Given the description of an element on the screen output the (x, y) to click on. 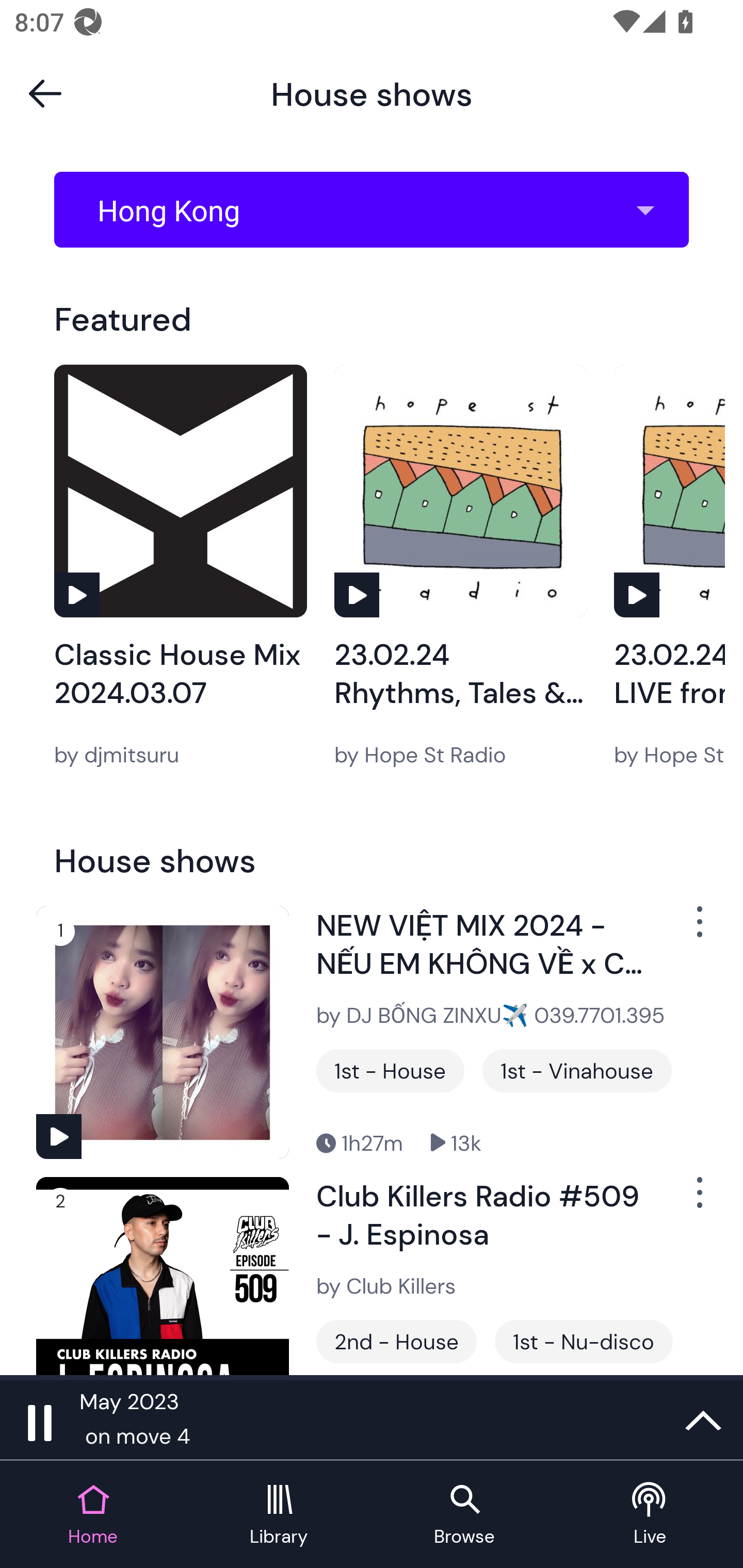
Hong Kong (378, 209)
Show Options Menu Button (697, 929)
1st - House (390, 1070)
1st - Vinahouse (576, 1070)
Show Options Menu Button (697, 1200)
2nd - House (396, 1341)
1st - Nu-disco (583, 1341)
Home tab Home (92, 1515)
Library tab Library (278, 1515)
Browse tab Browse (464, 1515)
Live tab Live (650, 1515)
